Given the description of an element on the screen output the (x, y) to click on. 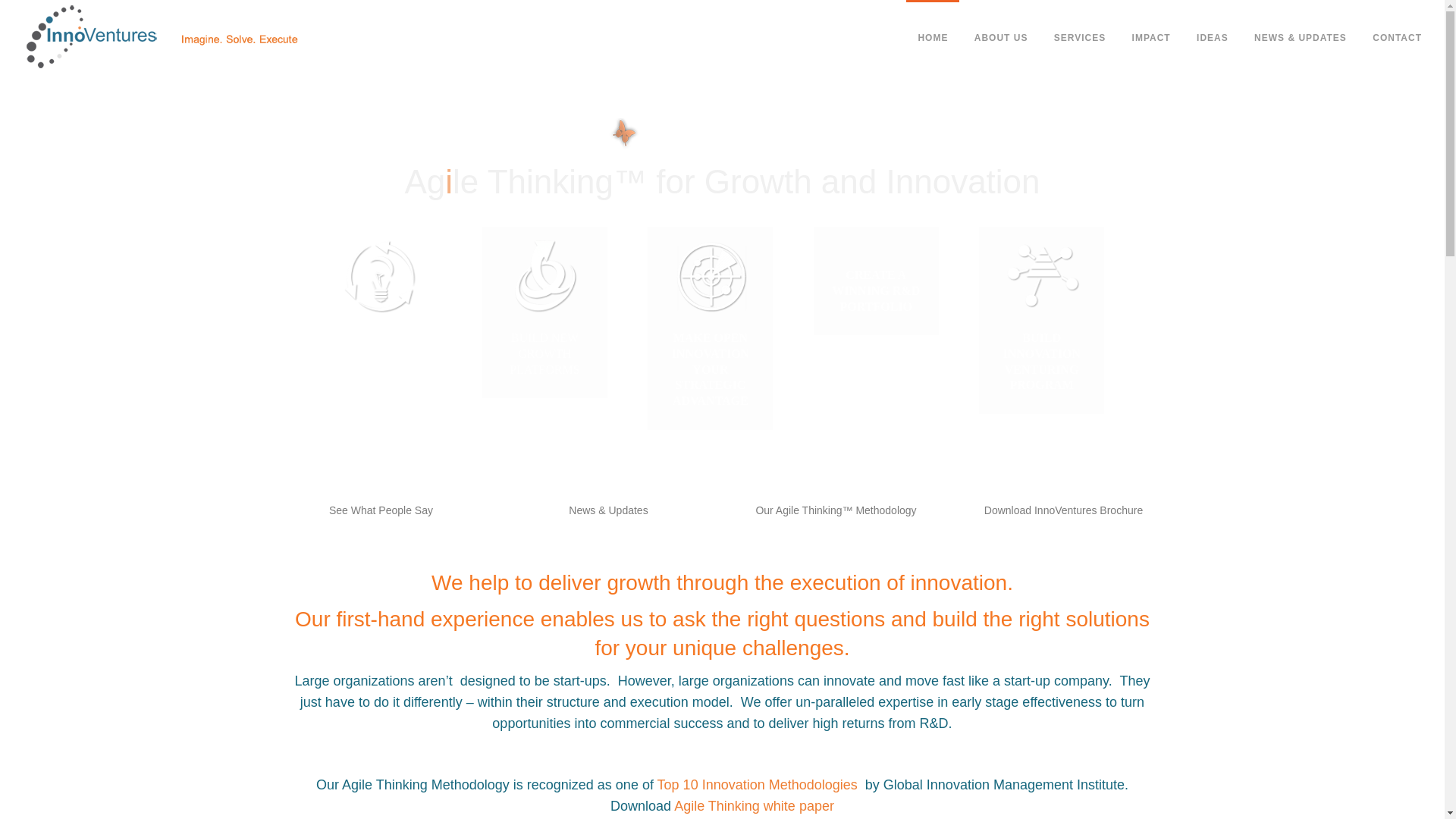
See What People Say (381, 509)
See What People Say (381, 509)
CONTACT (1396, 38)
See How (1041, 388)
Download InnoVentures Brochure (1063, 509)
Strategic Scouting and Open Innovation (710, 388)
Download InnoVentures Brochure (1063, 509)
ABOUT US (1000, 38)
SERVICES (1079, 38)
See How (544, 388)
Agile Thinking white paper (754, 806)
Innovation Venturing (1041, 388)
See How (710, 388)
New Growth Platforms (544, 388)
InnoVentures (156, 38)
